Given the description of an element on the screen output the (x, y) to click on. 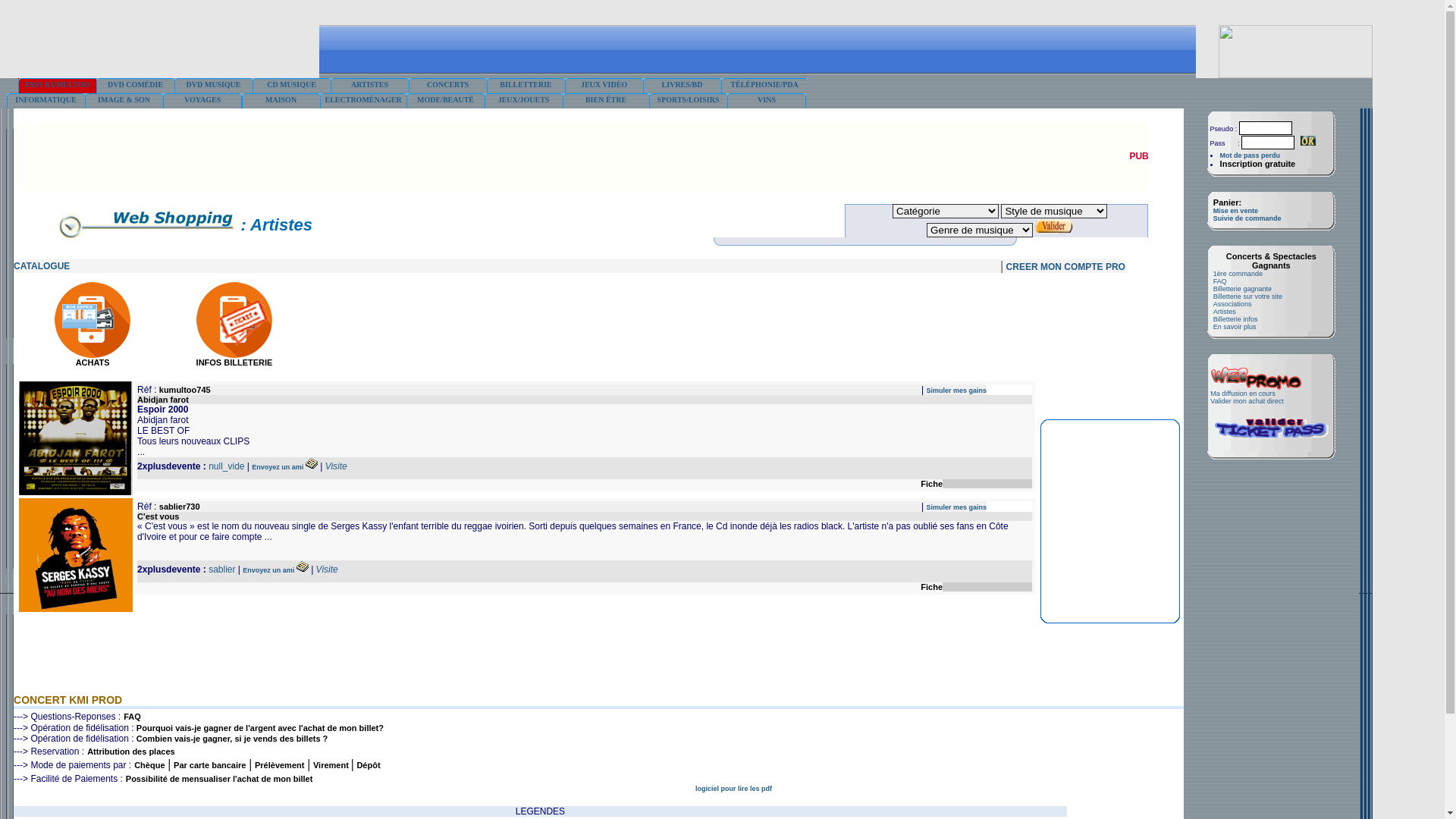
LIVRES/BD Element type: text (682, 85)
kumultoo745 Element type: text (184, 389)
Attribution des places Element type: text (131, 751)
PASS KUMULTOO Element type: text (57, 85)
Artistes Element type: text (1224, 311)
Visite Element type: text (336, 466)
Fiche Element type: text (931, 586)
Suivie de commande Element type: text (1247, 218)
DVD MUSIQUE Element type: text (213, 85)
VOYAGES Element type: text (202, 100)
INFORMATIQUE Element type: text (45, 100)
logiciel pour lire les pdf Element type: text (733, 788)
VINS Element type: text (766, 100)
Par carte bancaire Element type: text (209, 764)
INFOS BILLETERIE Element type: text (234, 358)
CREER MON COMPTE PRO Element type: text (1065, 266)
FAQ Element type: text (132, 716)
SPORTS/LOISIRS Element type: text (688, 100)
Mise en vente Element type: text (1235, 210)
Combien vais-je gagner, si je vends des billets ? Element type: text (231, 738)
CD MUSIQUE Element type: text (291, 85)
sablier Element type: text (221, 569)
Billetterie gagnante Element type: text (1242, 288)
Envoyez un ami Element type: text (269, 570)
Visite Element type: text (327, 569)
Abidjan farot Element type: text (162, 399)
Simuler mes gains Element type: text (956, 390)
Billetterie infos Element type: text (1235, 319)
Simuler mes gains Element type: text (956, 507)
null_vide Element type: text (226, 466)
ACHATS Element type: text (92, 358)
Fiche Element type: text (931, 483)
FAQ Element type: text (1219, 281)
JEUX/JOUETS Element type: text (523, 100)
Billetterie sur votre site Element type: text (1247, 296)
Inscription gratuite Element type: text (1257, 163)
Ma diffusion en cours Element type: text (1242, 393)
CATALOGUE Element type: text (41, 265)
BILLETTERIE Element type: text (525, 85)
Virement Element type: text (332, 764)
ARTISTES Element type: text (369, 85)
Associations Element type: text (1232, 303)
Envoyez un ami Element type: text (278, 466)
C'est vous Element type: text (157, 515)
En savoir plus Element type: text (1234, 326)
sablier730 Element type: text (179, 506)
IMAGE & SON Element type: text (123, 100)
CONCERTS Element type: text (447, 85)
Mot de pass perdu Element type: text (1250, 155)
MAISON Element type: text (280, 100)
Valider mon achat direct Element type: text (1246, 400)
